Given the description of an element on the screen output the (x, y) to click on. 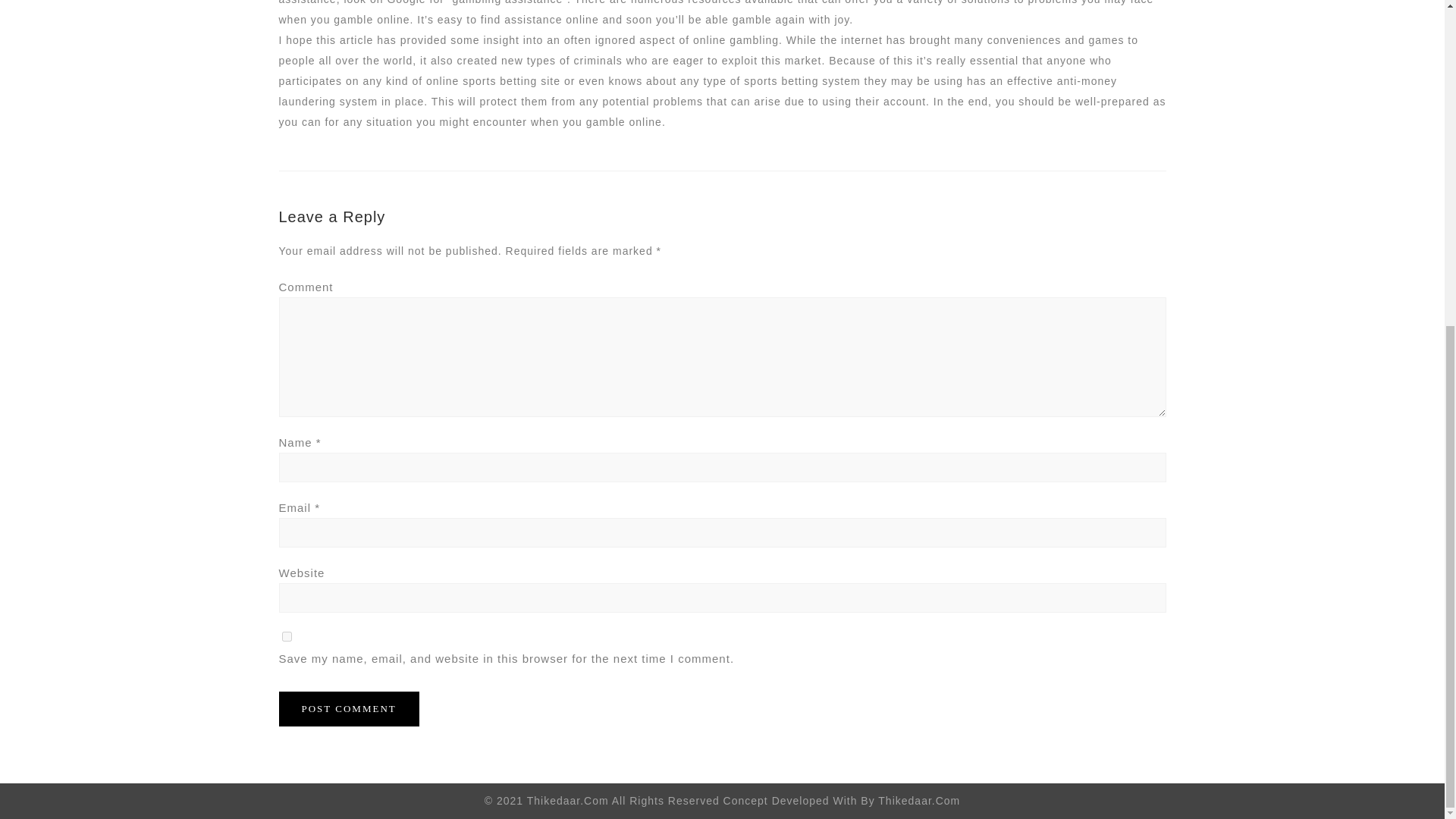
Post Comment (349, 708)
Post Comment (349, 708)
yes (287, 636)
